Given the description of an element on the screen output the (x, y) to click on. 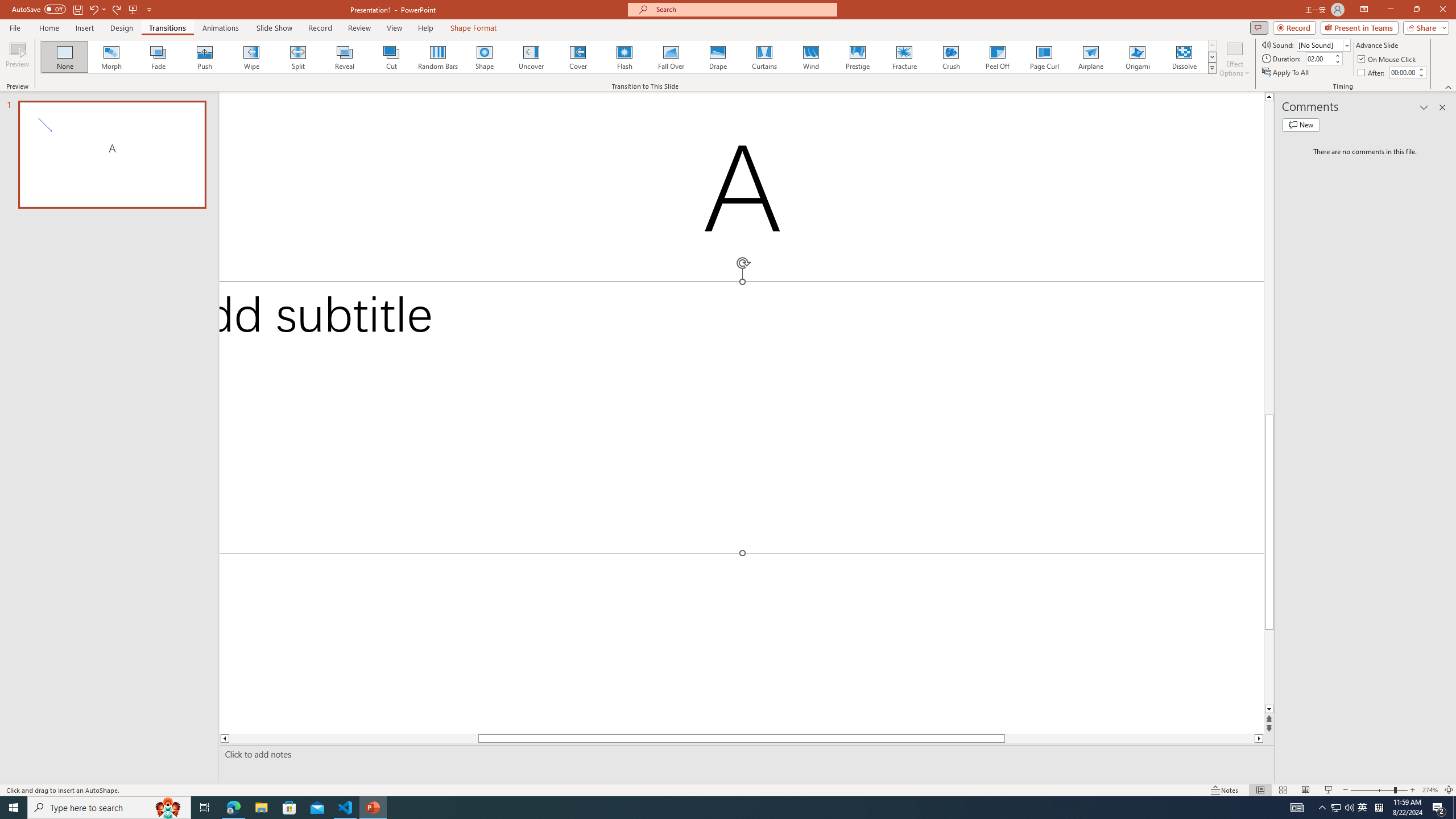
Fall Over (670, 56)
Crush (950, 56)
Prestige (857, 56)
Dissolve (1183, 56)
Apply To All (1286, 72)
Morph (111, 56)
